Given the description of an element on the screen output the (x, y) to click on. 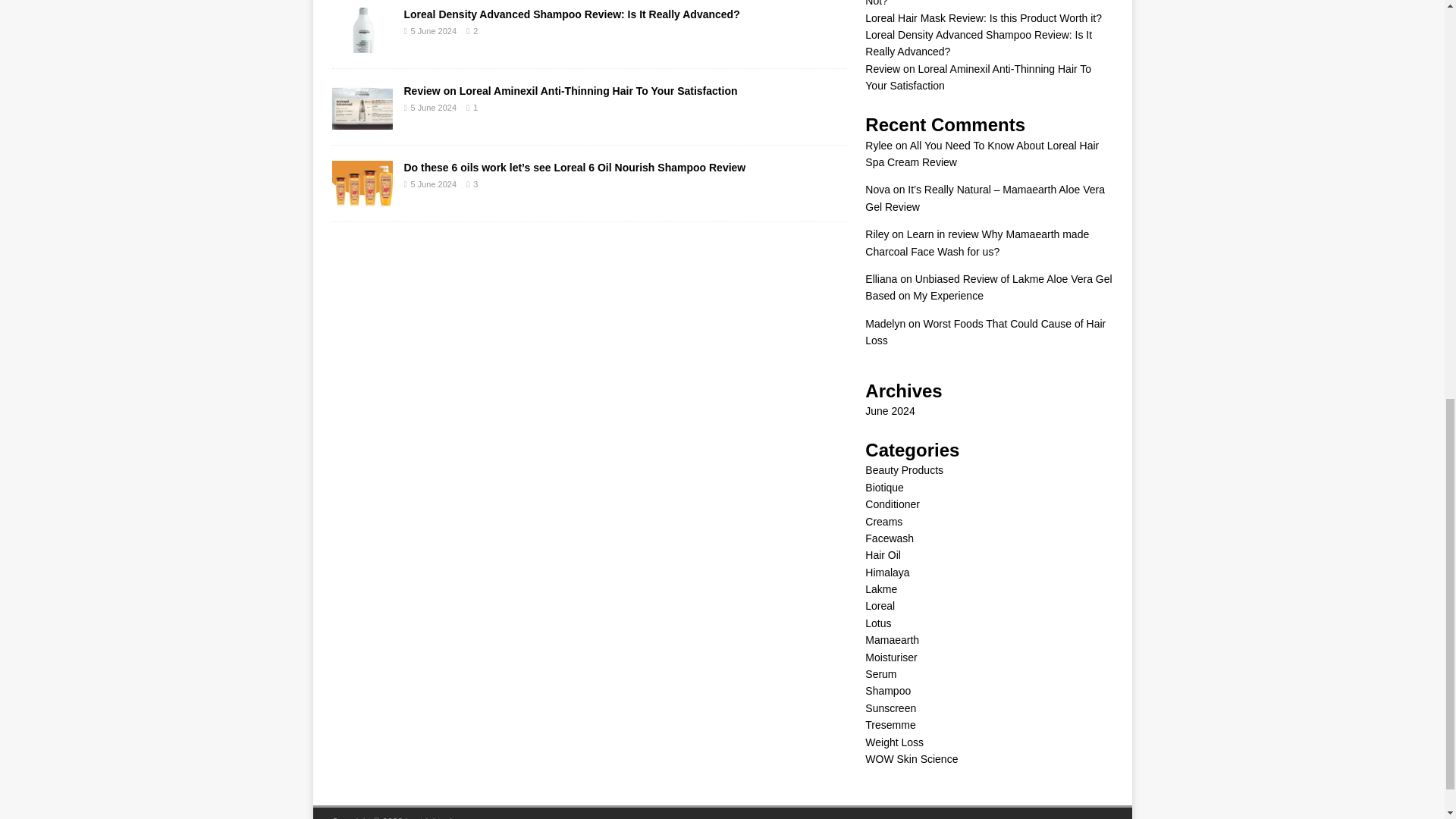
Loreal Hair Serum Review: Is It Worth It To You Or Not? (983, 3)
Loreal Hair Mask Review: Is this Product Worth it? (983, 18)
All You Need To Know About Loreal Hair Spa Cream Review (981, 153)
